Given the description of an element on the screen output the (x, y) to click on. 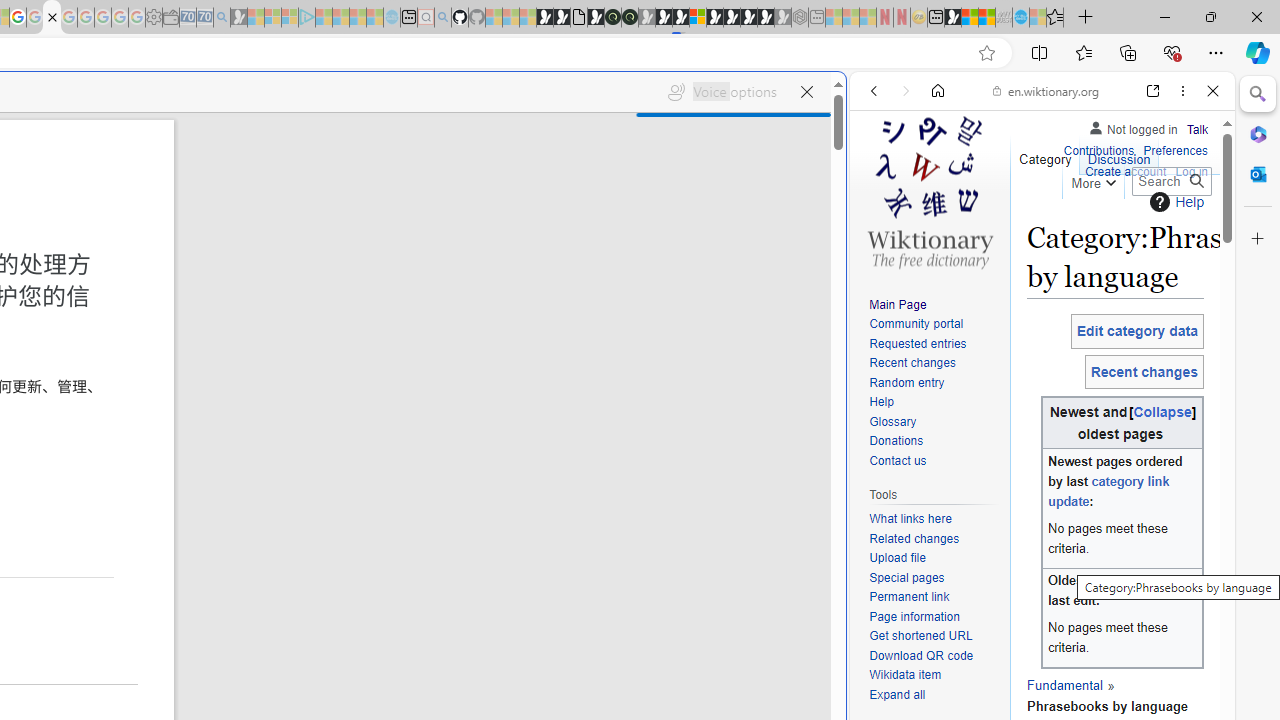
Special pages (906, 577)
Download QR code (921, 655)
Contact us (897, 460)
Search or enter web address (343, 191)
Talk (1197, 129)
Requested entries (934, 344)
Visit the main page (929, 190)
Close read aloud (805, 92)
en.wiktionary.org (1046, 90)
